Given the description of an element on the screen output the (x, y) to click on. 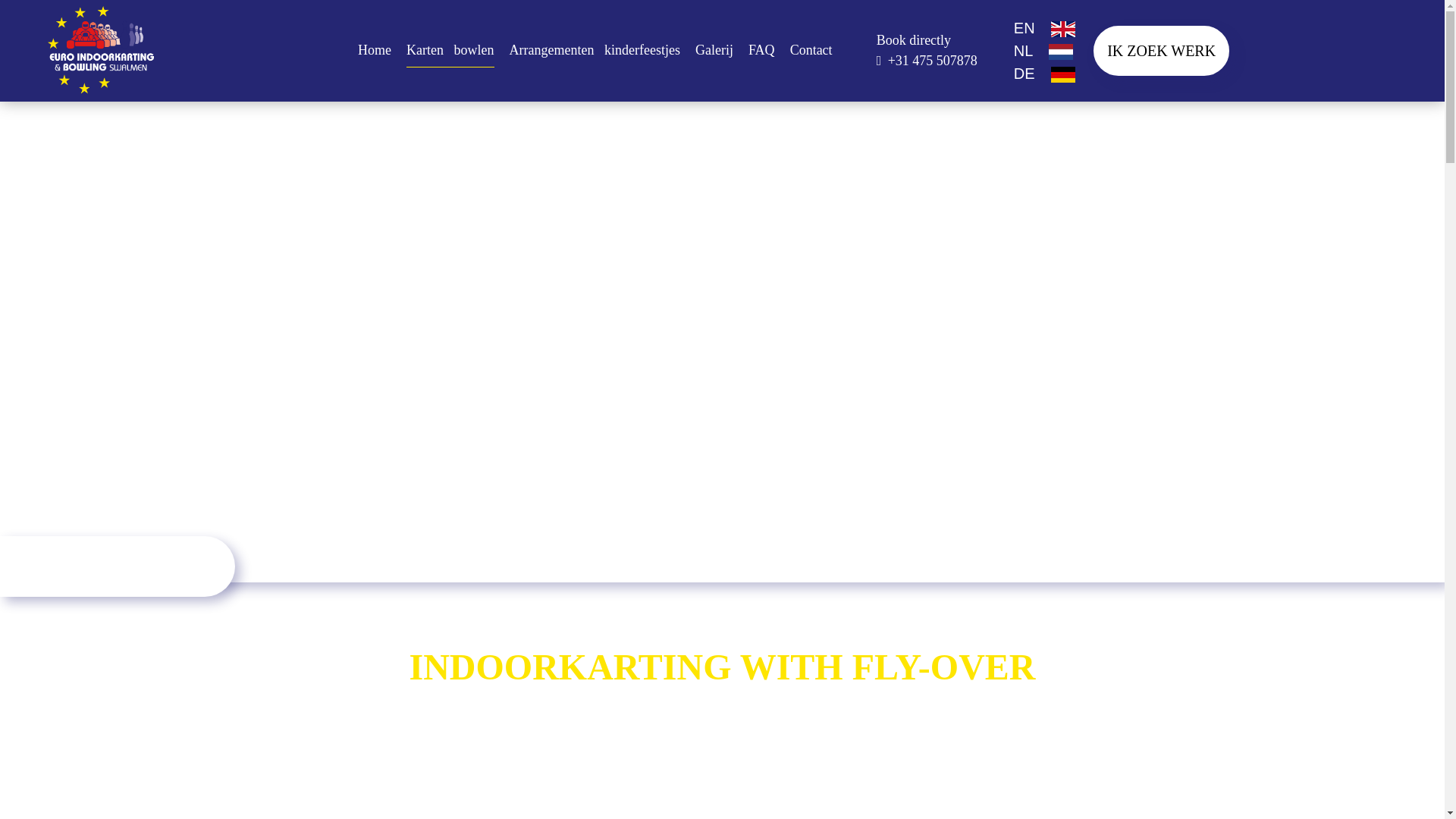
Galerij (714, 50)
Home (374, 50)
EN (1044, 27)
DE (1044, 73)
NL (1043, 50)
Contact (811, 50)
IK ZOEK WERK (1160, 50)
Karten   bowlen (449, 50)
Arrangementen   kinderfeestjes (594, 50)
